Given the description of an element on the screen output the (x, y) to click on. 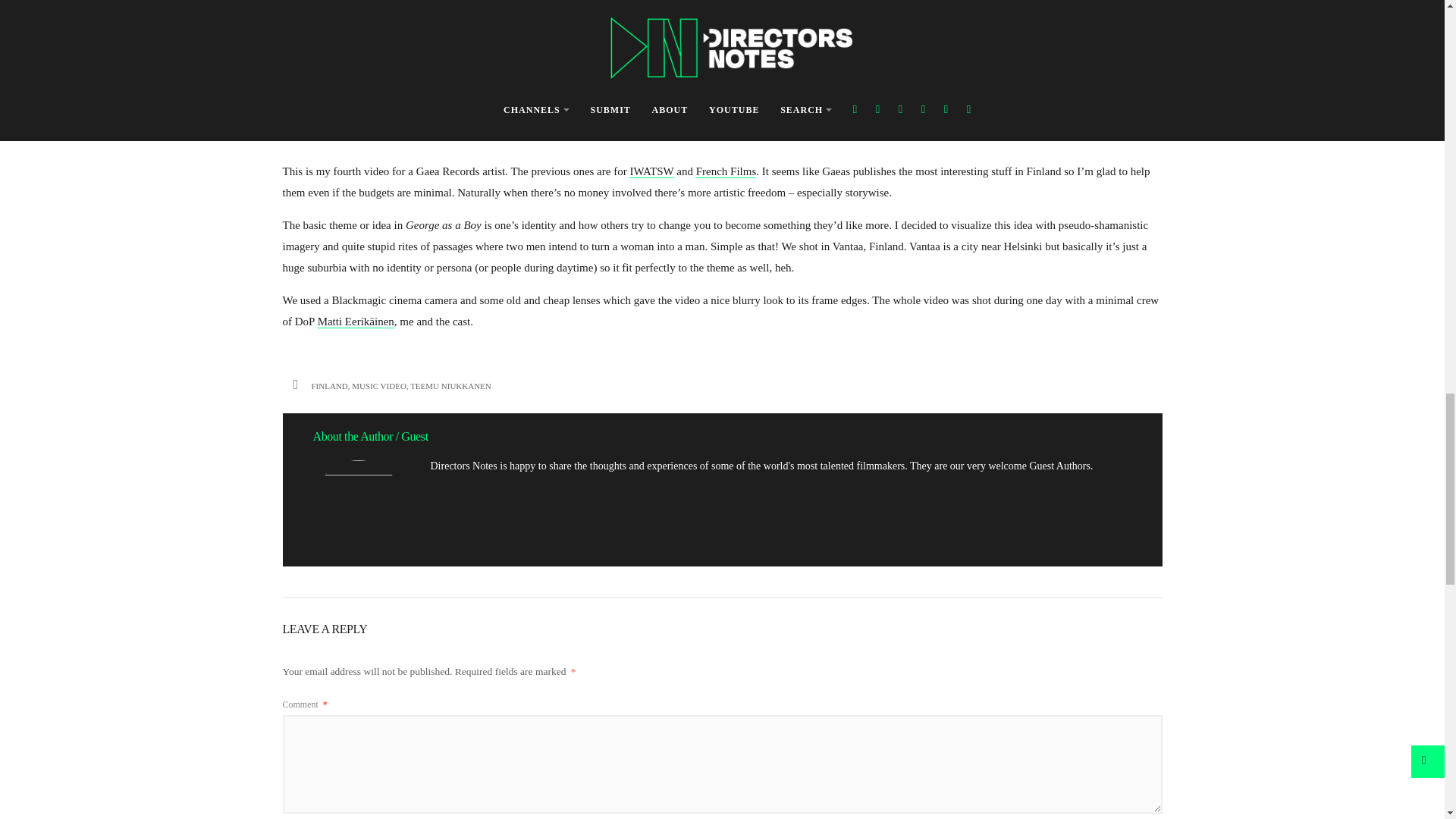
Guest (414, 436)
FINLAND (329, 385)
French Films (726, 171)
MUSIC VIDEO (379, 385)
The Hearing - George As a Boy (721, 67)
Posts by Guest (414, 436)
IWATSW (650, 171)
TEEMU NIUKKANEN (451, 385)
